Given the description of an element on the screen output the (x, y) to click on. 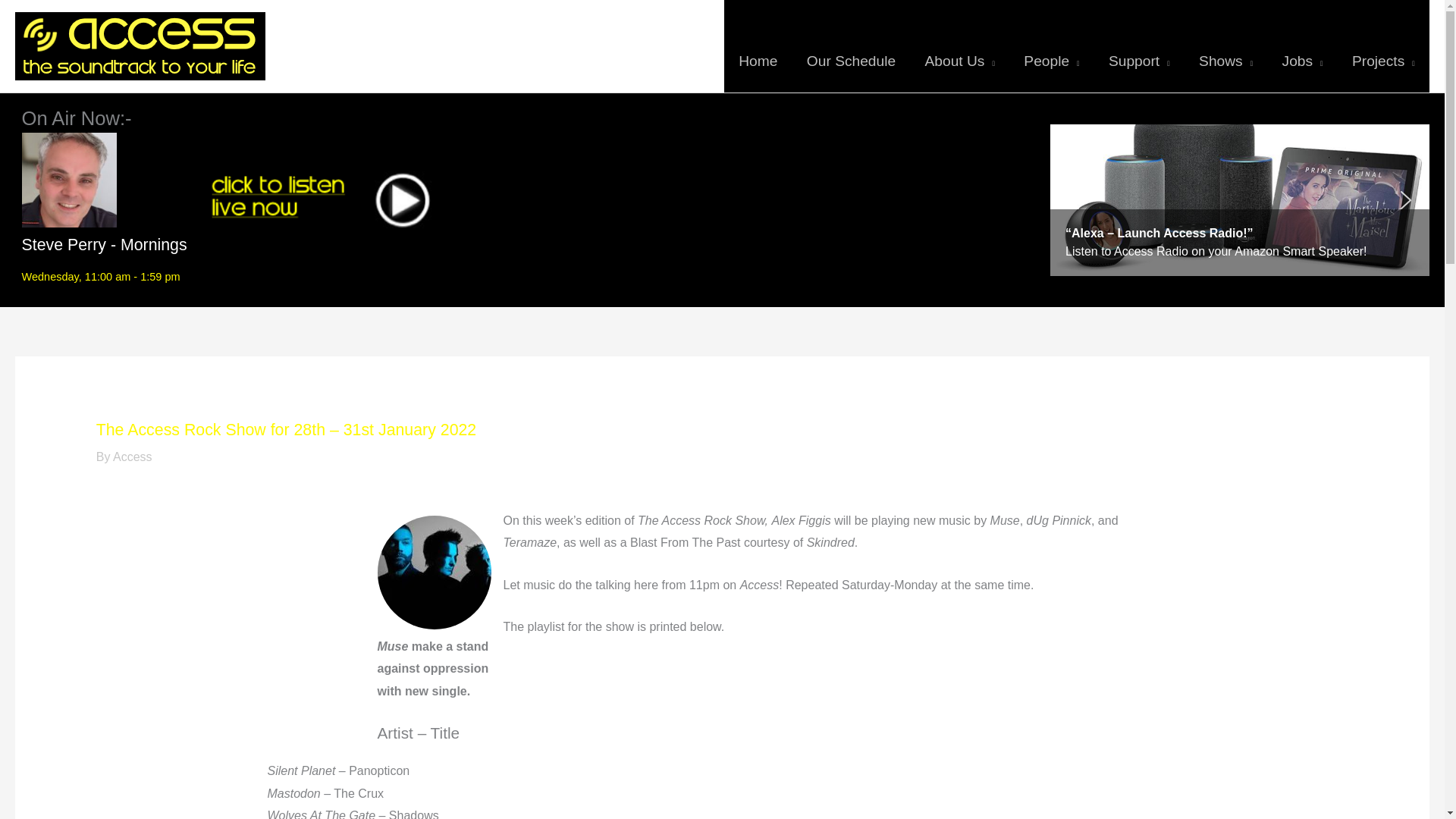
About Us (959, 46)
People (1051, 46)
Projects (1383, 46)
Steve Perry - Mornings (104, 244)
Support (1139, 46)
Shows (1225, 46)
View all posts by Access (132, 456)
Our Schedule (851, 46)
